Given the description of an element on the screen output the (x, y) to click on. 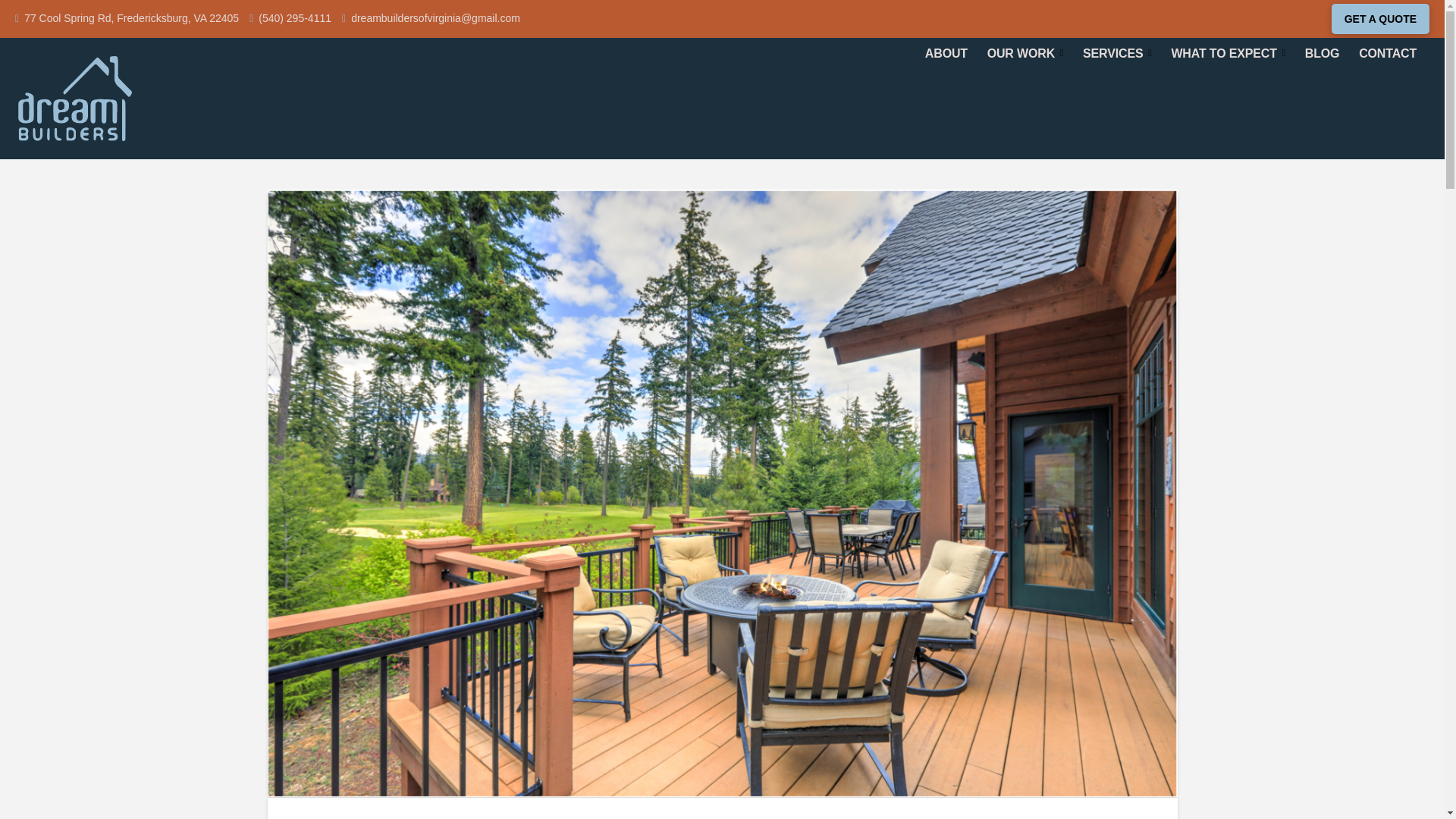
OUR WORK (1024, 53)
ABOUT (945, 53)
CONTACT (1387, 53)
GET A QUOTE (1380, 19)
BLOG (1322, 53)
SERVICES (1116, 53)
WHAT TO EXPECT (1228, 53)
